Given the description of an element on the screen output the (x, y) to click on. 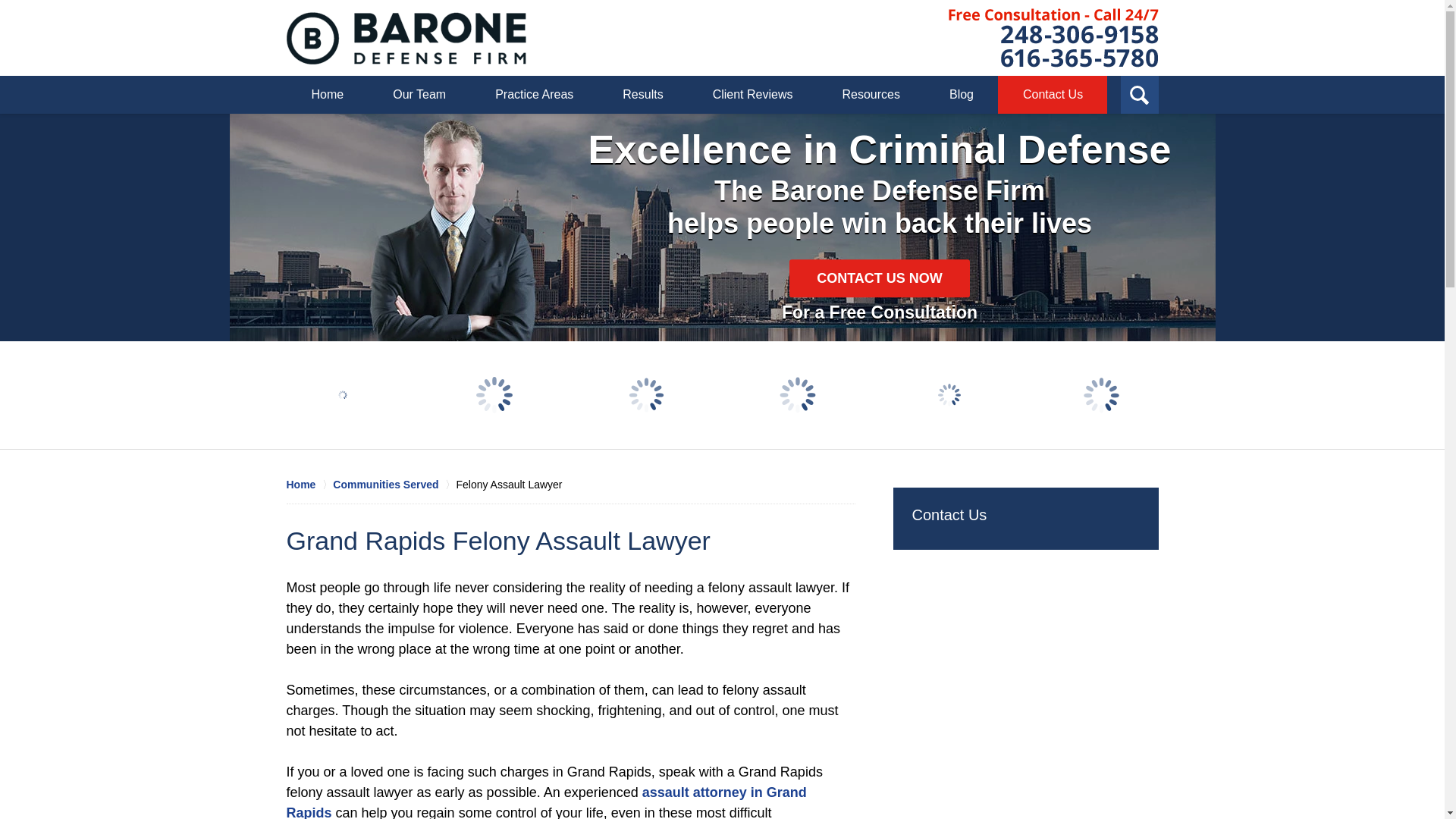
Home (309, 483)
Home (327, 94)
Contact Us (949, 514)
Blog (960, 94)
Results (641, 94)
Barone Defense Firm Home (405, 38)
Practice Areas (533, 94)
Back to Home (405, 38)
Contact Us (1051, 94)
Our Team (419, 94)
Communities Served (394, 483)
Contact Barone Defense Firm (1052, 37)
CONTACT US NOW (879, 278)
assault attorney in Grand Rapids (546, 801)
Client Reviews (751, 94)
